Given the description of an element on the screen output the (x, y) to click on. 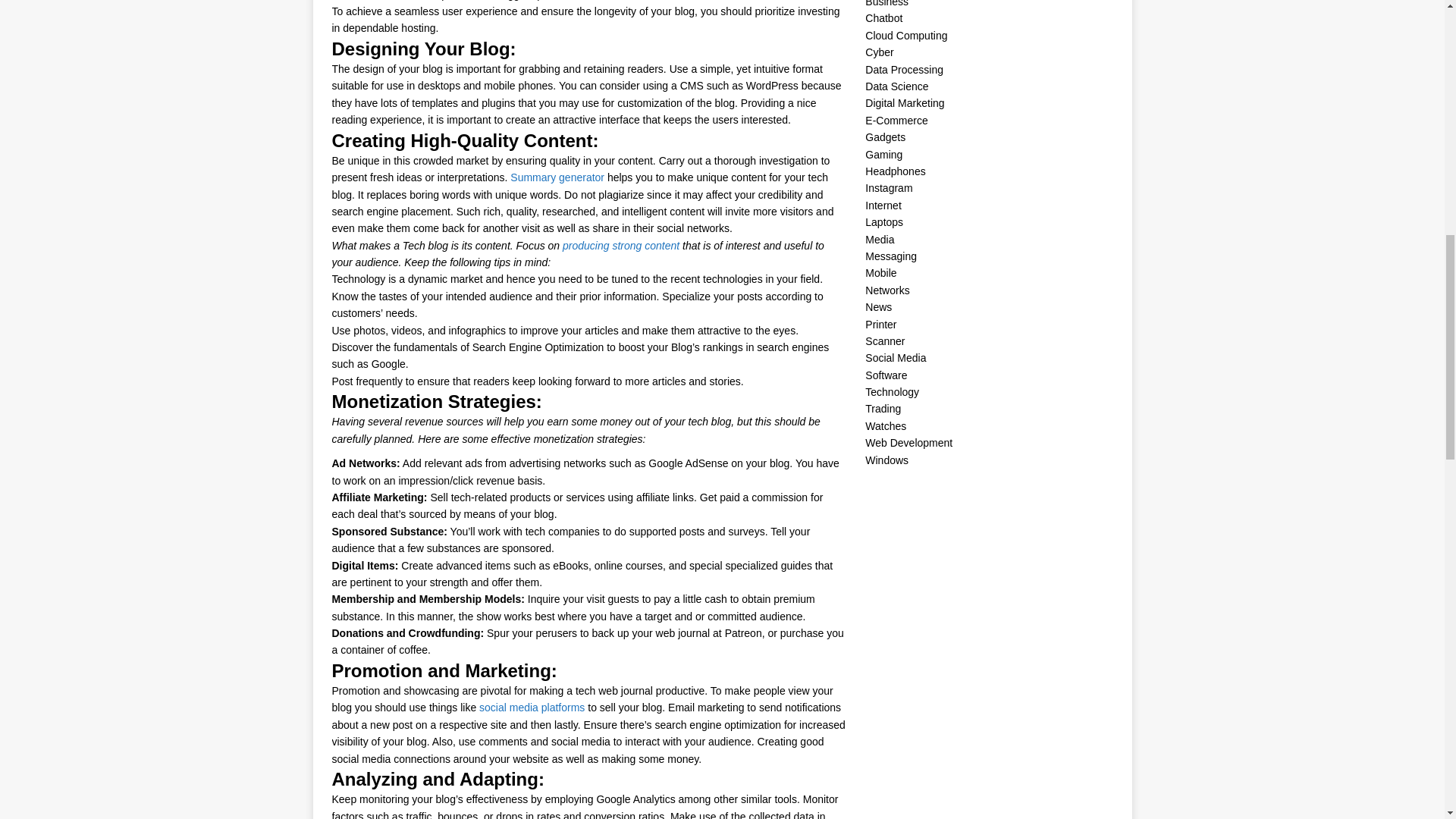
social media platforms (532, 707)
producing strong content (620, 245)
Summary generator (557, 177)
